Given the description of an element on the screen output the (x, y) to click on. 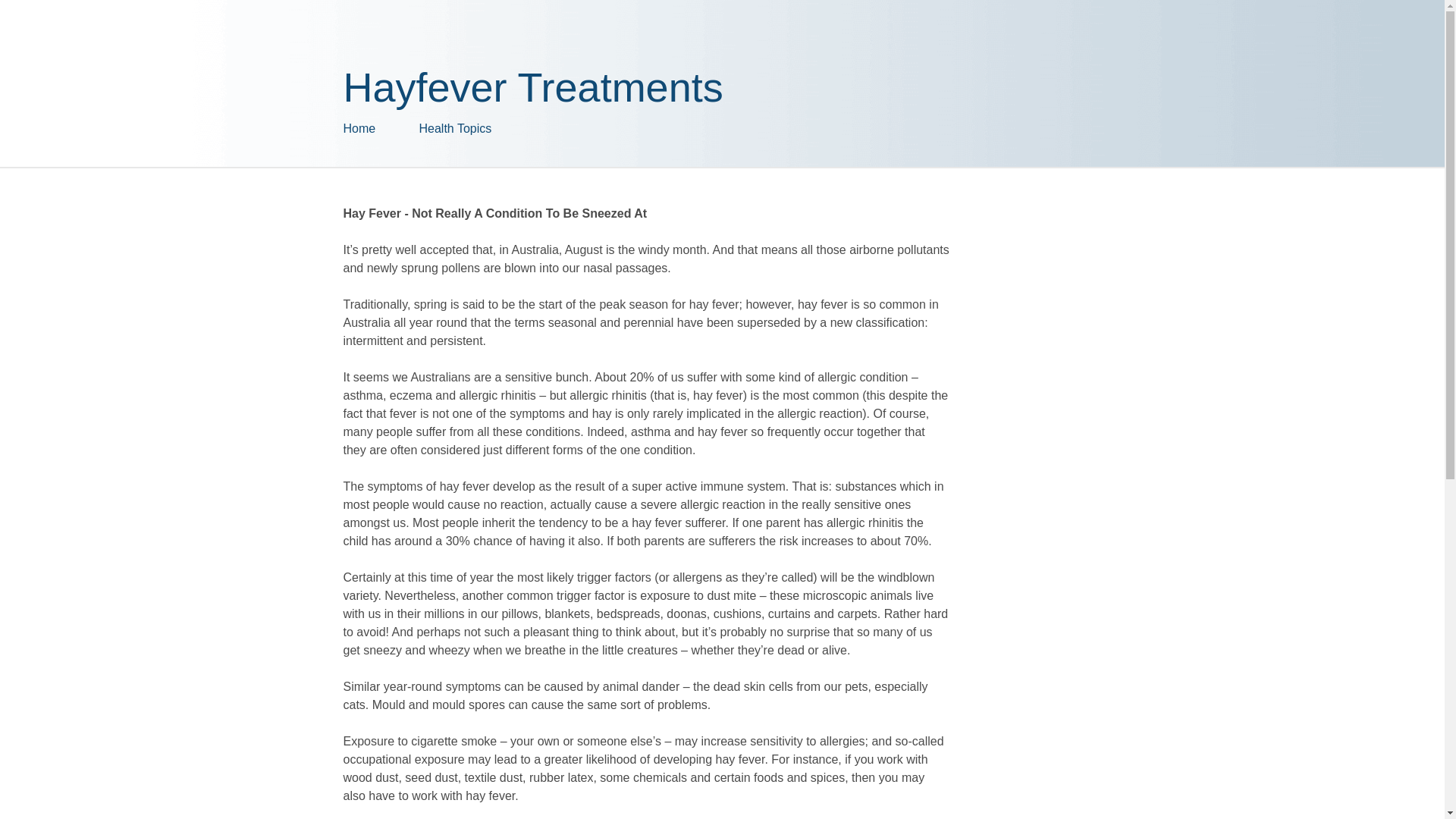
Health Topics Element type: text (494, 128)
Home Element type: text (380, 128)
